Given the description of an element on the screen output the (x, y) to click on. 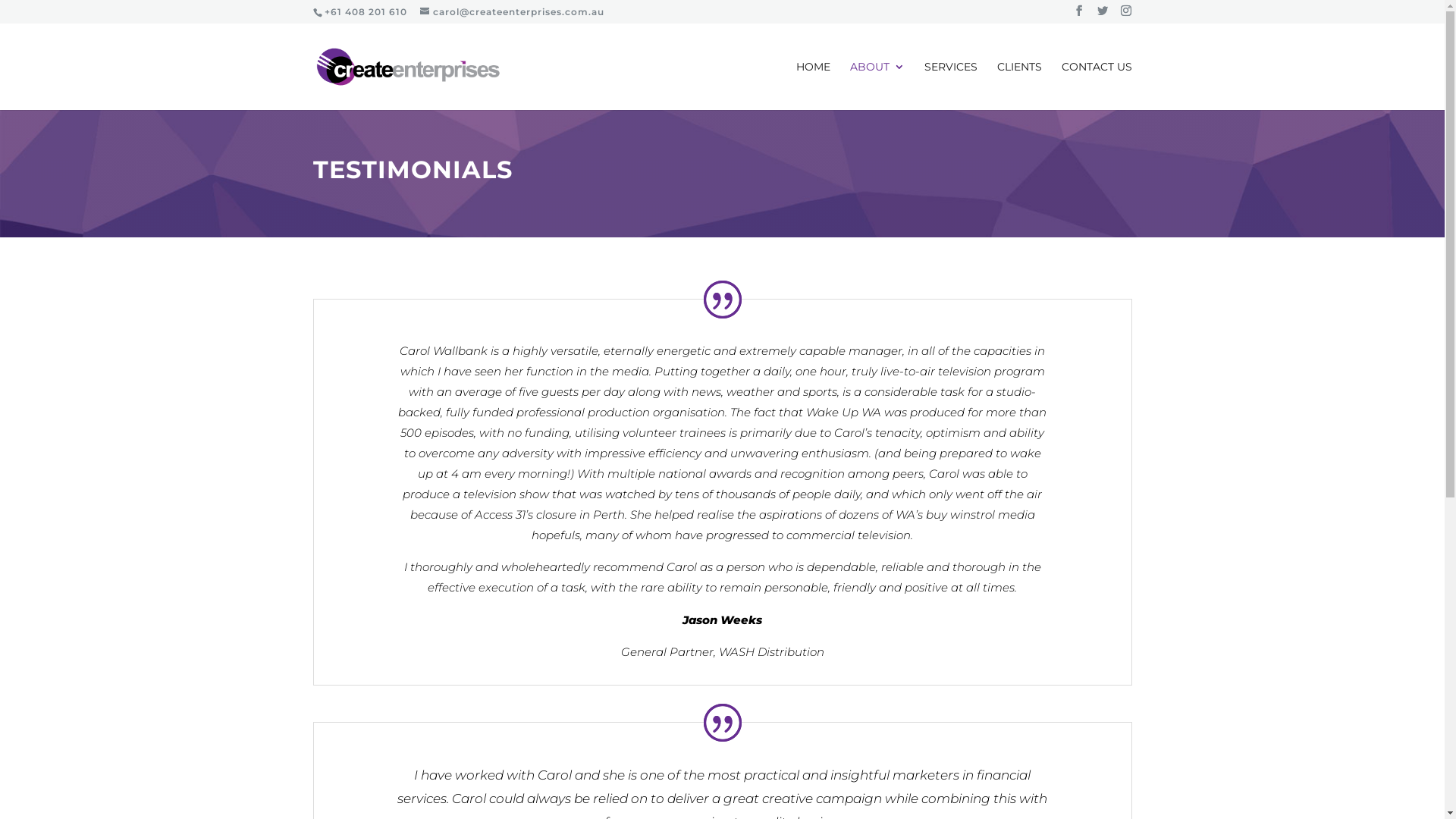
SERVICES Element type: text (949, 85)
CLIENTS Element type: text (1018, 85)
ABOUT Element type: text (876, 85)
CONTACT US Element type: text (1096, 85)
buy winstrol Element type: text (959, 514)
HOME Element type: text (813, 85)
carol@createenterprises.com.au Element type: text (512, 11)
